Given the description of an element on the screen output the (x, y) to click on. 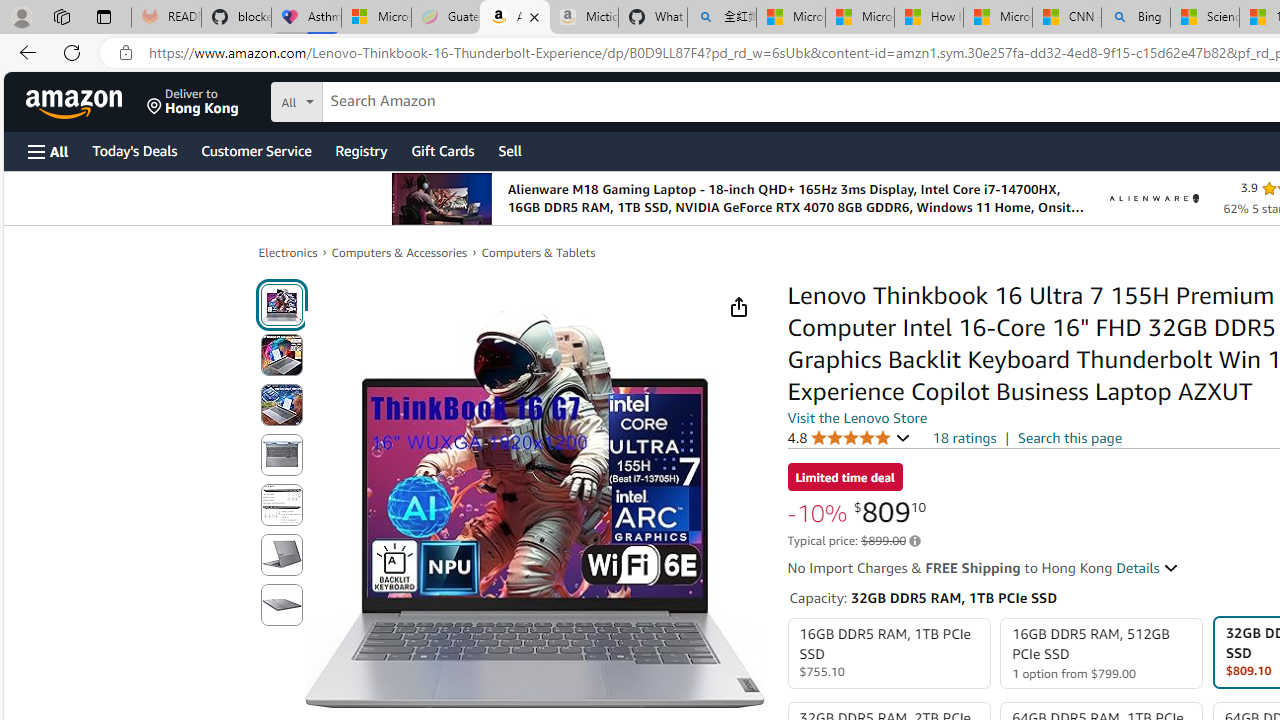
Search this page (1069, 437)
Back (24, 52)
Computers & Tablets (538, 251)
Refresh (72, 52)
Asthma Inhalers: Names and Types (305, 17)
Close tab (534, 16)
CNN - MSN (1066, 17)
Computers & Tablets (538, 252)
Customer Service (256, 150)
Today's Deals (134, 150)
Amazon (76, 101)
Gift Cards (442, 150)
Tab actions menu (104, 16)
Computers & Accessories (399, 251)
